Given the description of an element on the screen output the (x, y) to click on. 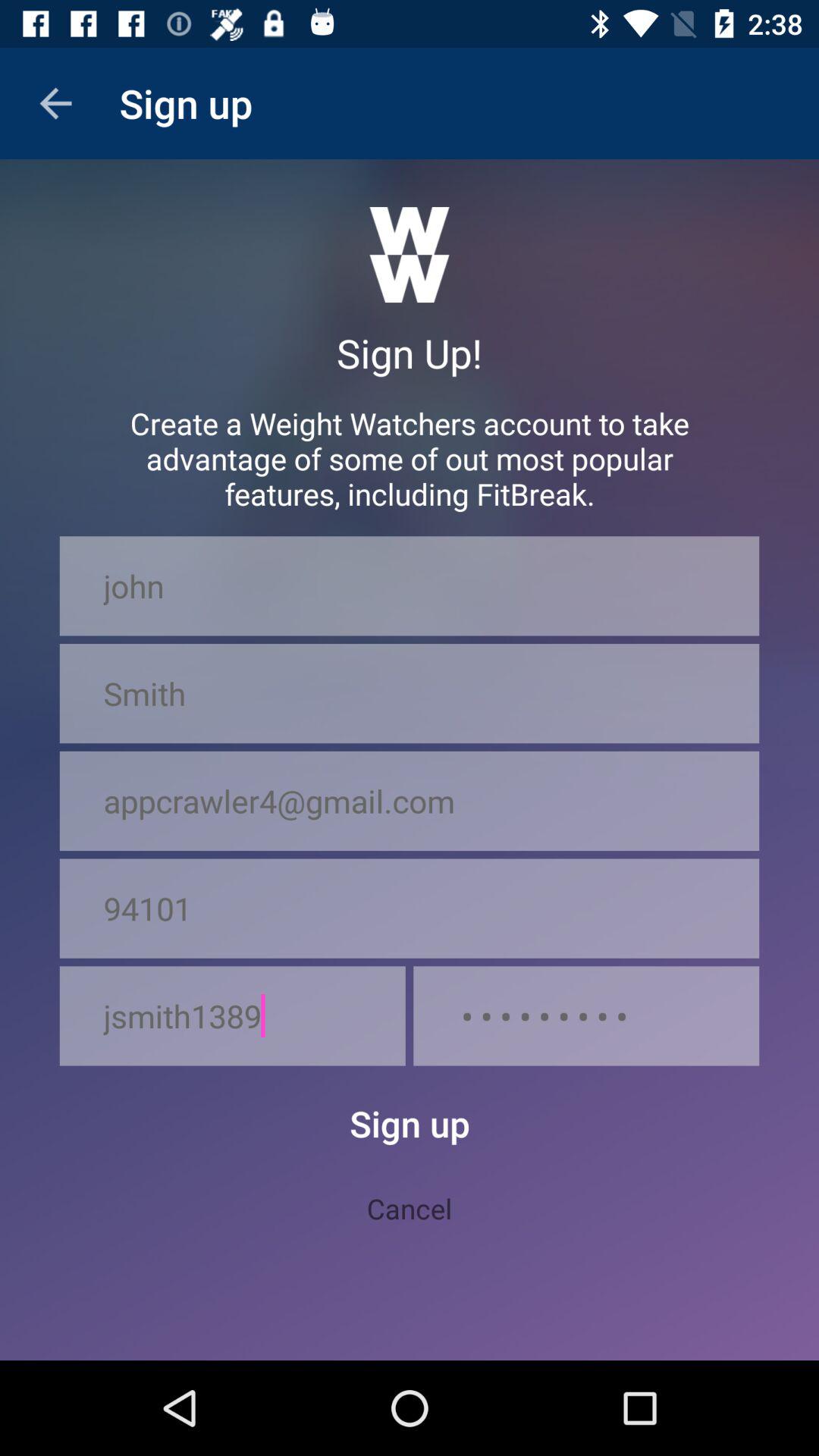
select icon at the bottom right corner (586, 1015)
